Given the description of an element on the screen output the (x, y) to click on. 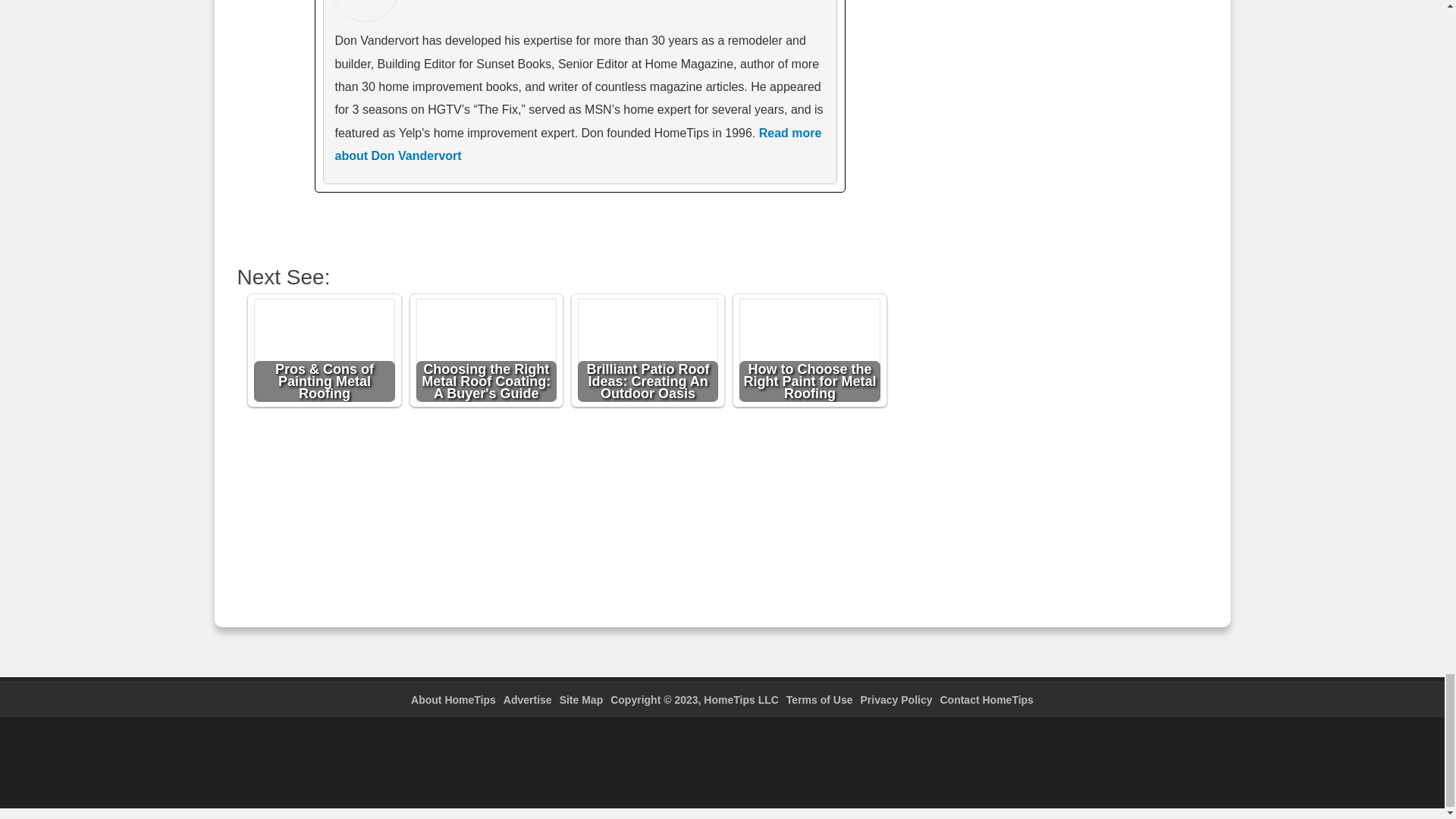
How to Choose the Right Paint for Metal Roofing (809, 352)
Brilliant Patio Roof Ideas: Creating An Outdoor Oasis (648, 352)
Choosing the Right Metal Roof Coating: A Buyer's Guide (486, 352)
